Given the description of an element on the screen output the (x, y) to click on. 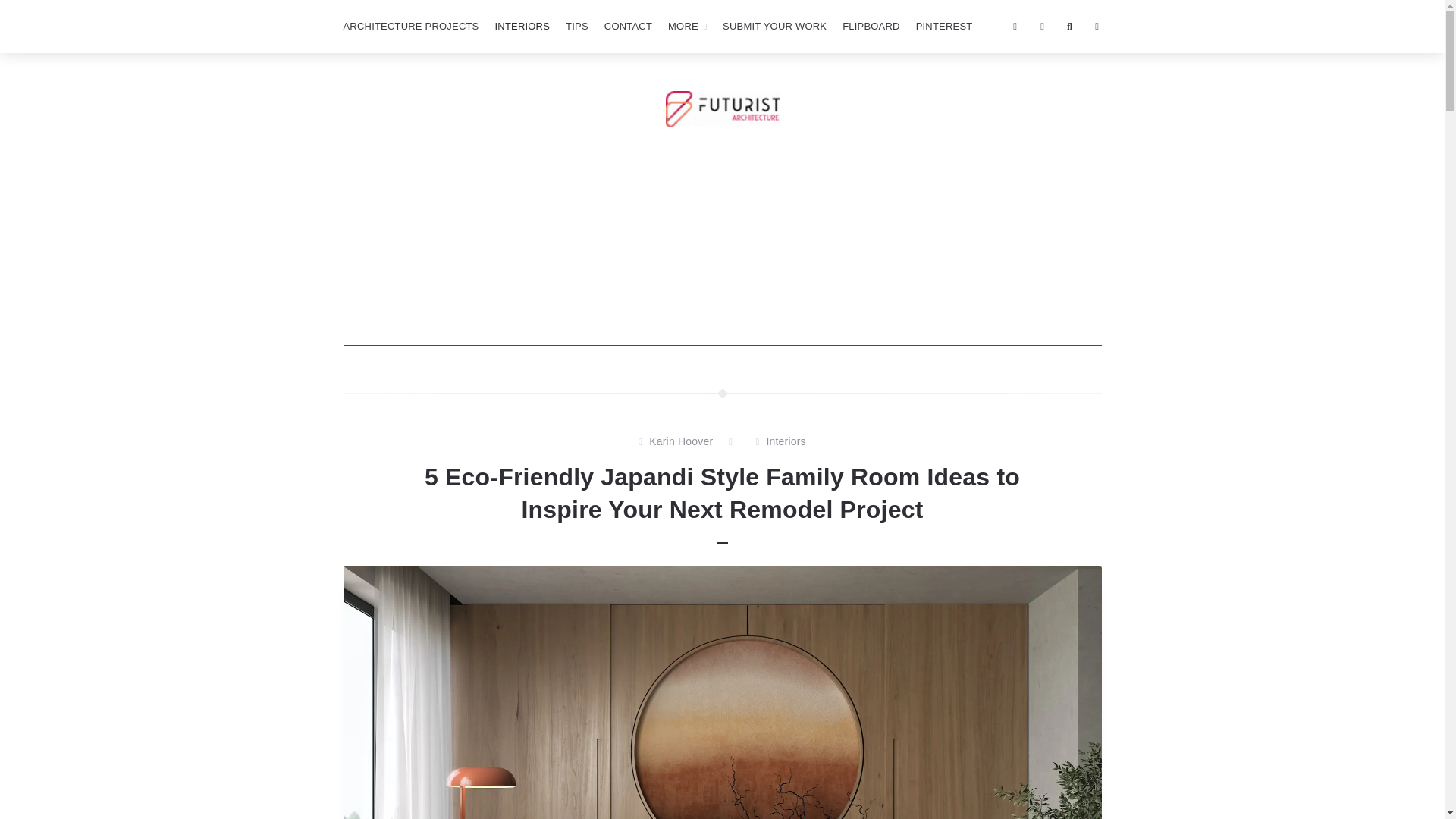
FLIPBOARD (870, 26)
PINTEREST (944, 26)
Karin Hoover (681, 442)
CONTACT (628, 26)
TIPS (576, 26)
ARCHITECTURE PROJECTS (410, 26)
INTERIORS (521, 26)
Interiors (785, 442)
SUBMIT YOUR WORK (774, 26)
MORE (687, 26)
